Given the description of an element on the screen output the (x, y) to click on. 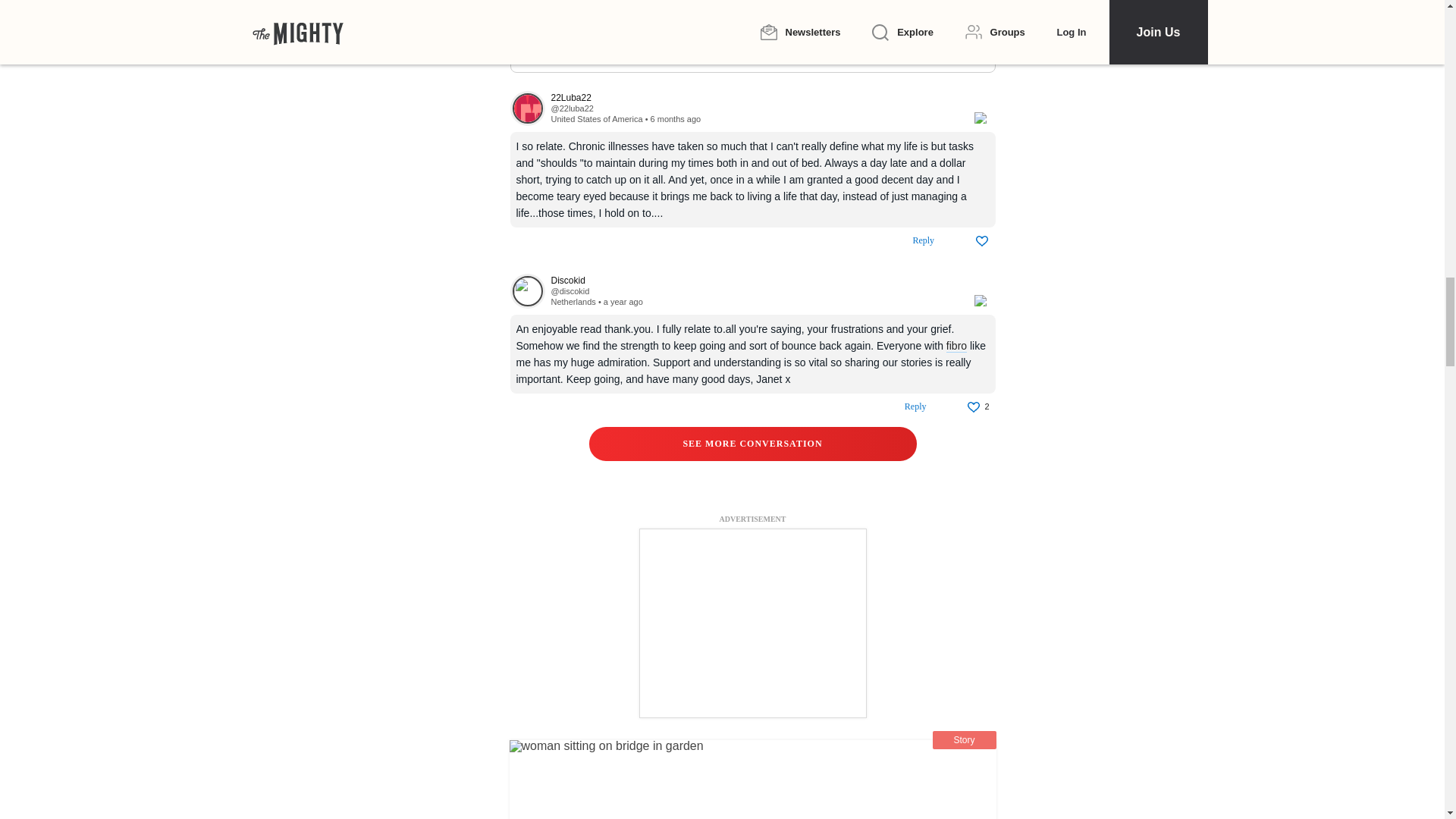
View their profile (569, 290)
View their profile (754, 98)
View their profile (754, 280)
View their profile (571, 108)
View their profile (526, 108)
View their profile (526, 290)
fibro (956, 345)
